Given the description of an element on the screen output the (x, y) to click on. 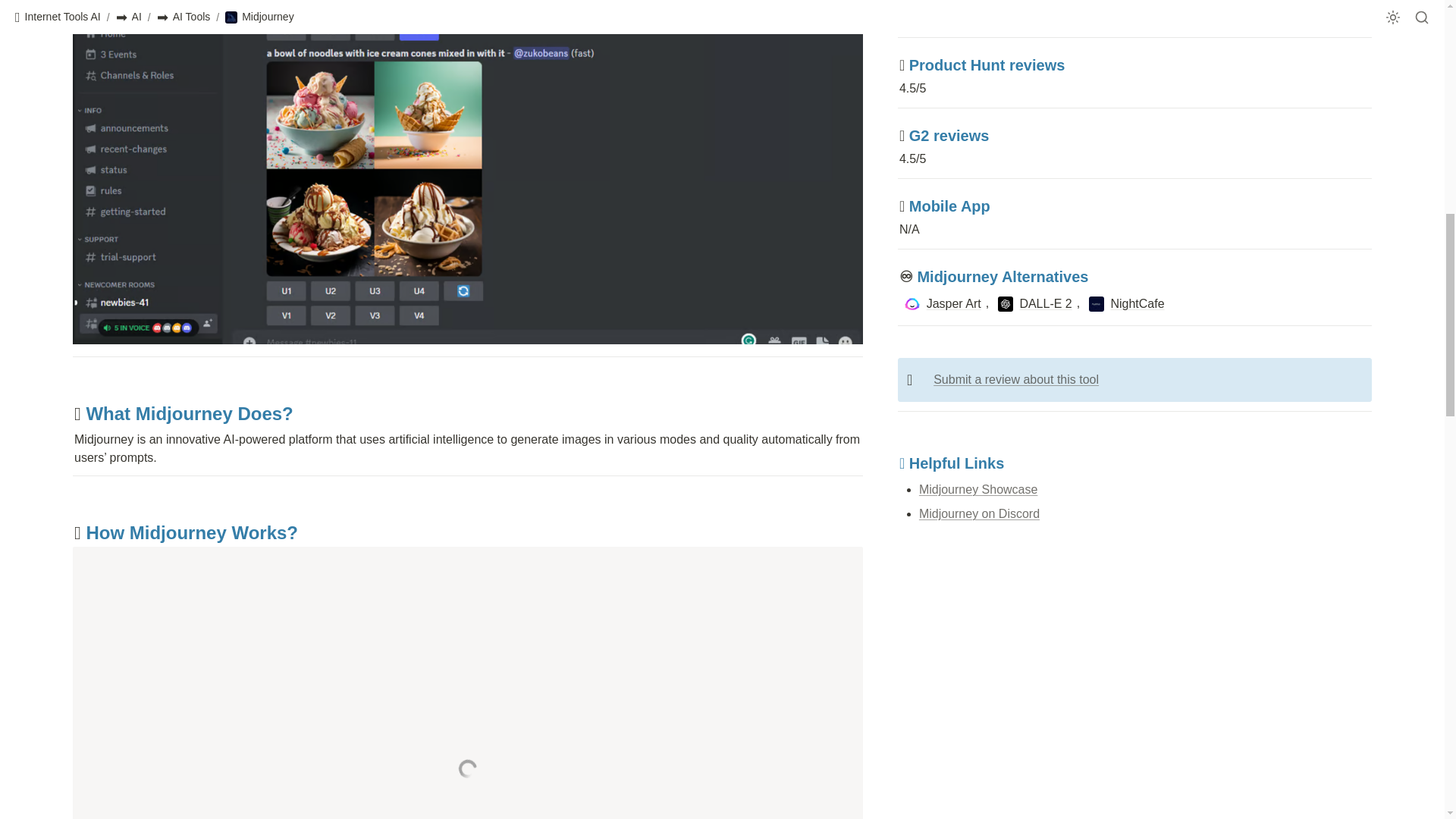
DALL-E 2 (1034, 303)
Submit a review about this tool (1016, 379)
Jasper Art (942, 303)
NightCafe (1126, 303)
Midjourney on Discord (978, 513)
Midjourney Showcase (978, 489)
